Given the description of an element on the screen output the (x, y) to click on. 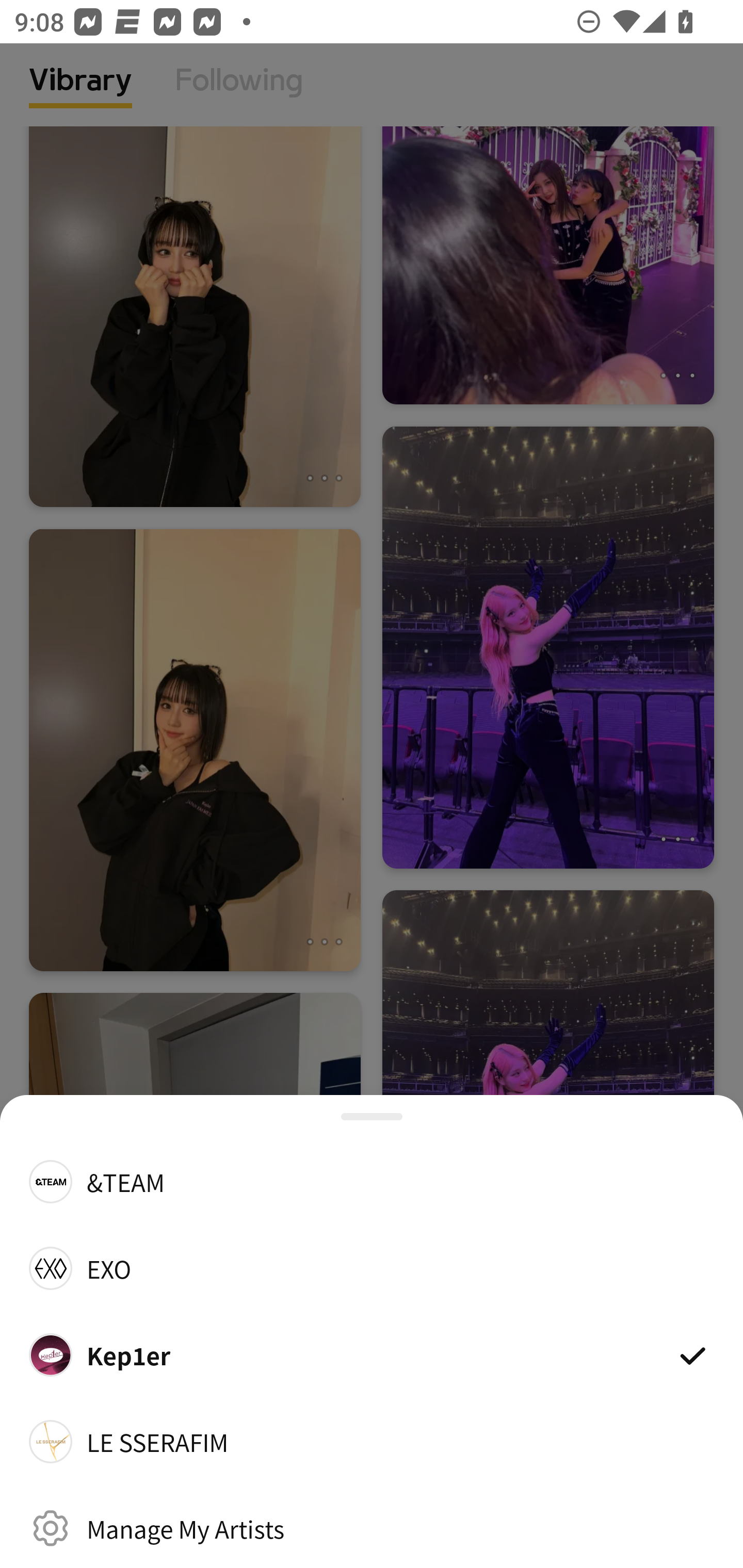
&TEAM (371, 1181)
EXO (371, 1268)
Kep1er (371, 1354)
LE SSERAFIM (371, 1441)
Manage My Artists (371, 1527)
